Given the description of an element on the screen output the (x, y) to click on. 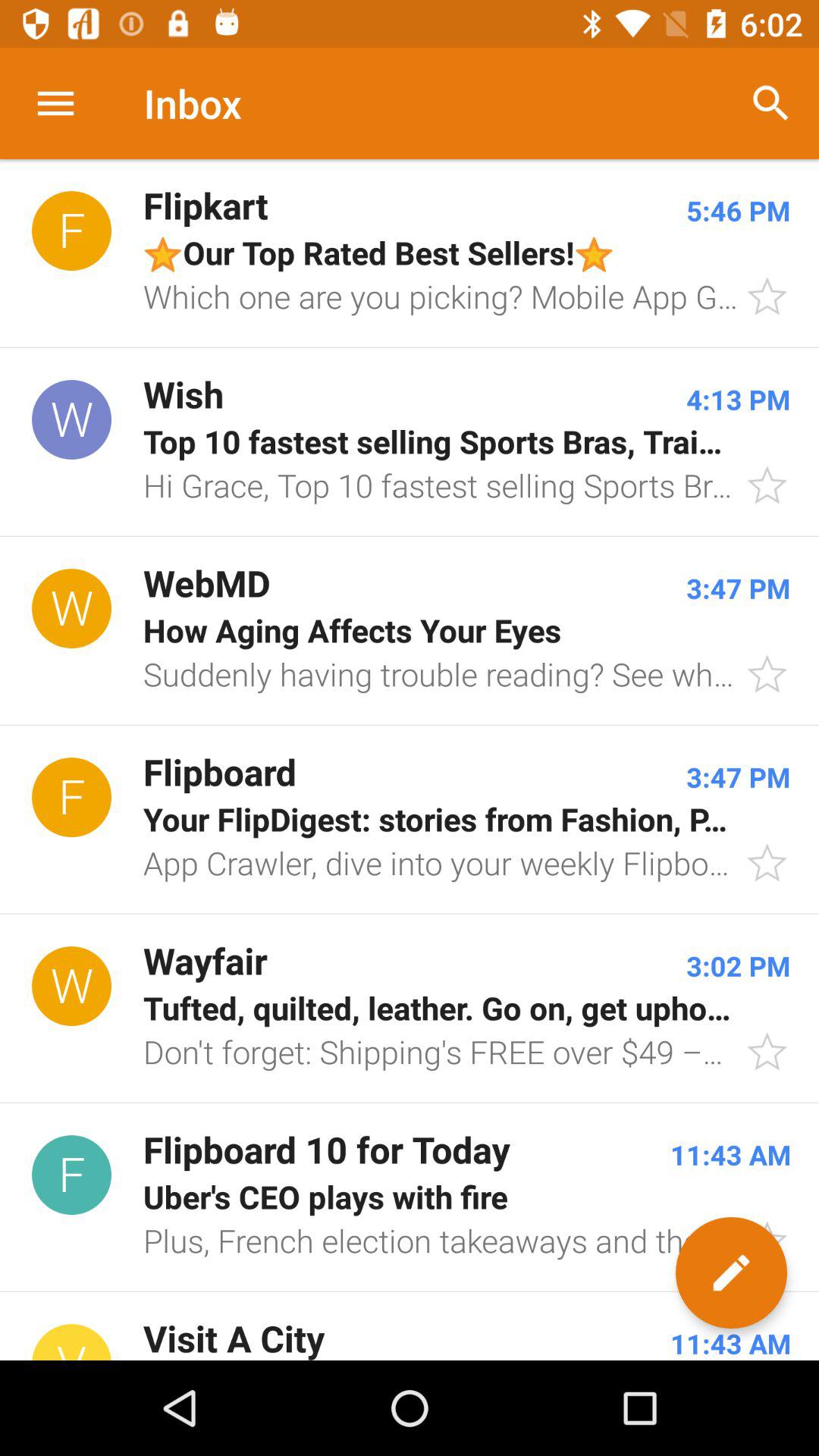
launch the icon at the top right corner (771, 103)
